Given the description of an element on the screen output the (x, y) to click on. 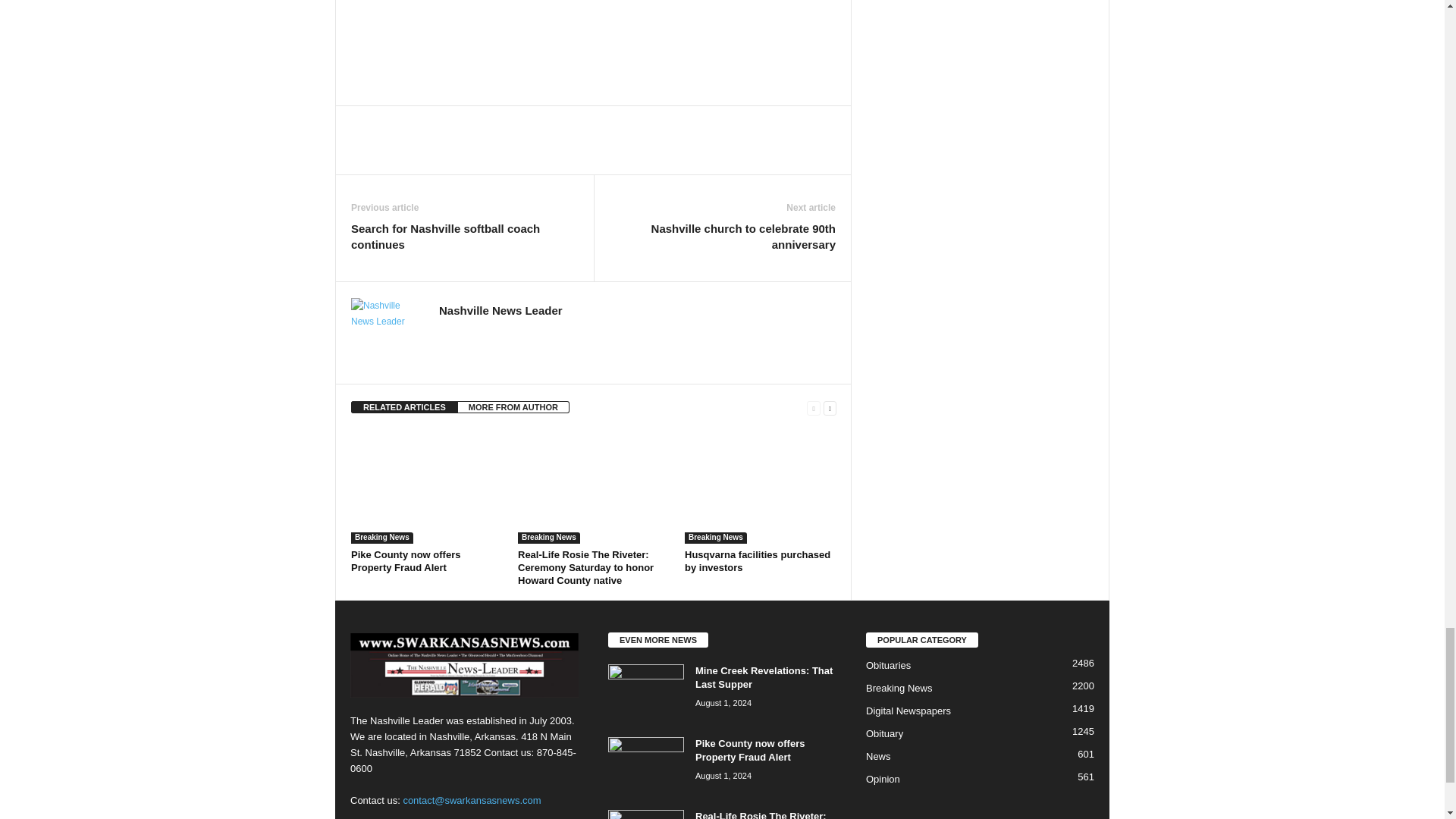
bottomFacebookLike (390, 121)
